Given the description of an element on the screen output the (x, y) to click on. 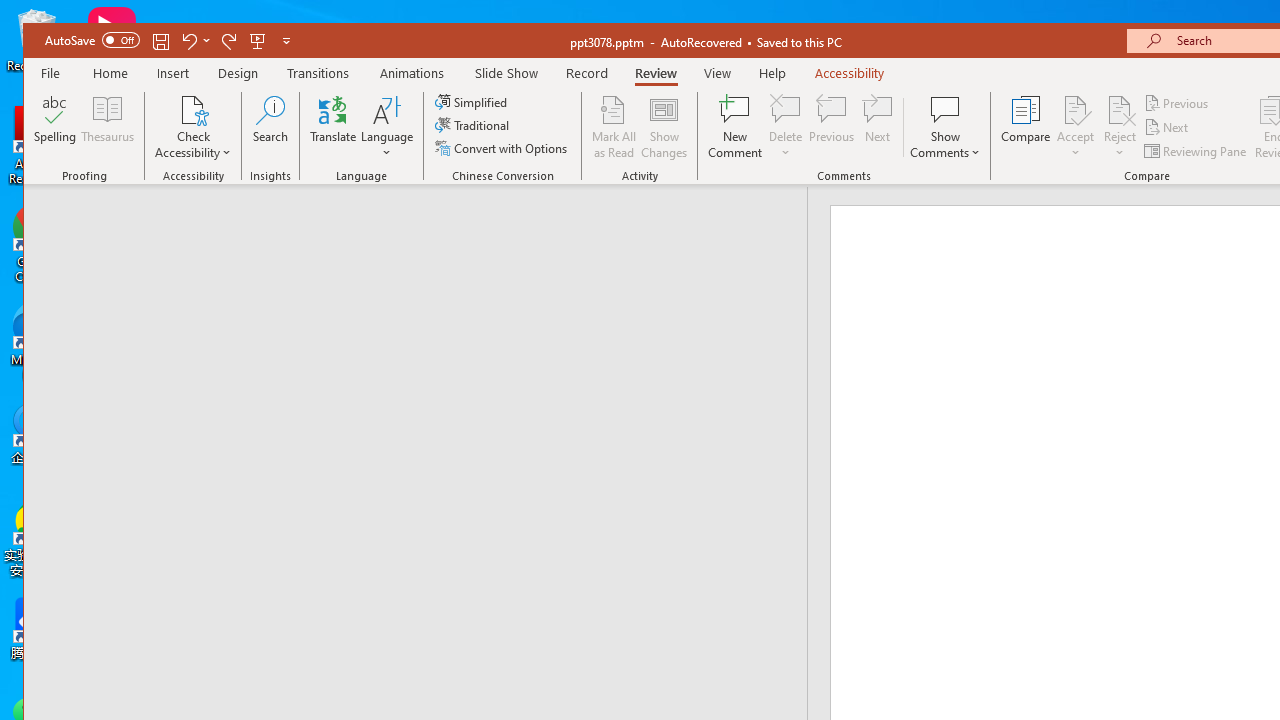
Check Accessibility (193, 109)
Simplified (473, 101)
Mark All as Read (614, 127)
Show Comments (945, 109)
Reject (1119, 127)
Delete (785, 127)
New Comment (735, 127)
Spelling... (55, 127)
Check Accessibility (193, 127)
